Given the description of an element on the screen output the (x, y) to click on. 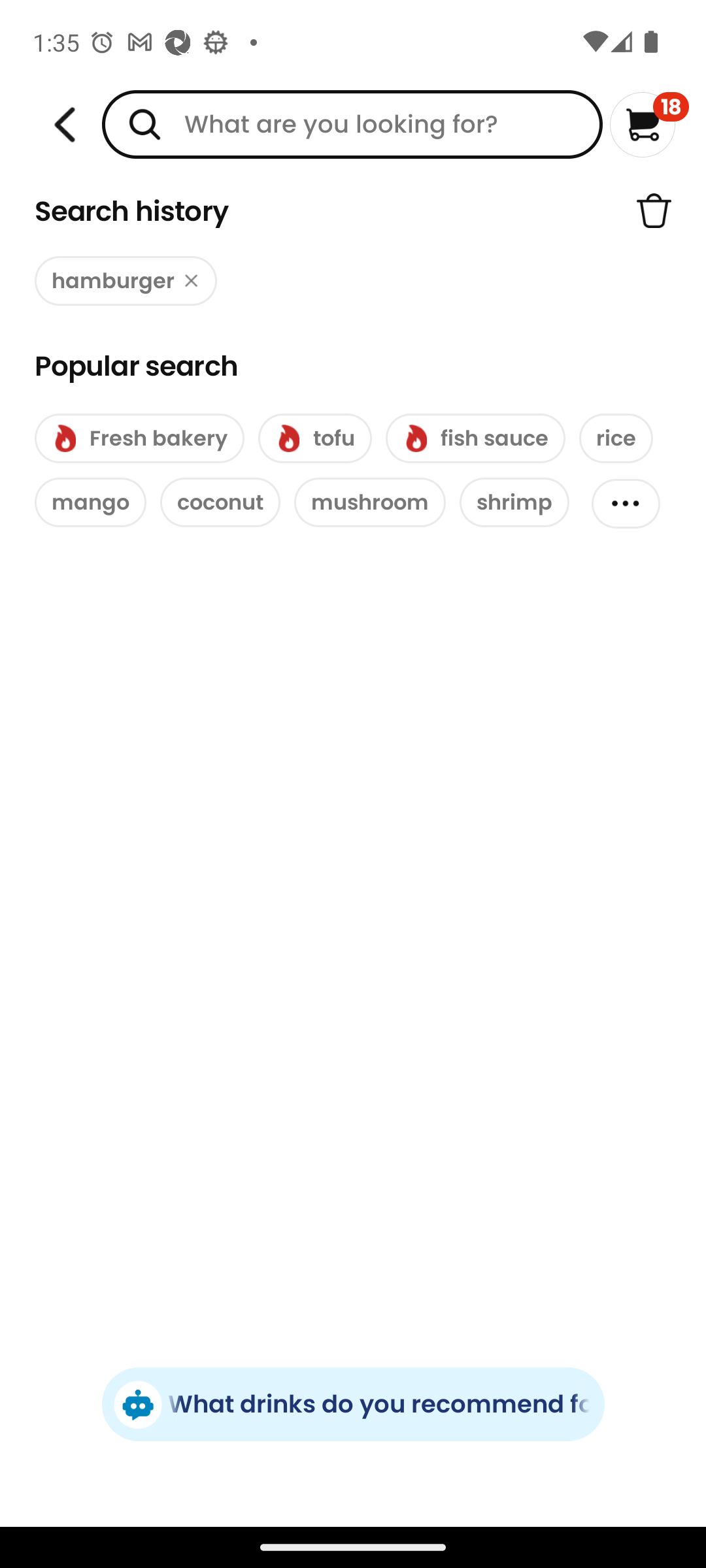
What are you looking for? (351, 124)
18 (649, 124)
hamburger (125, 280)
Fresh bakery (139, 437)
tofu (315, 437)
fish sauce (475, 437)
rice (615, 437)
mango (90, 502)
coconut (220, 502)
mushroom (369, 502)
shrimp (514, 502)
